Given the description of an element on the screen output the (x, y) to click on. 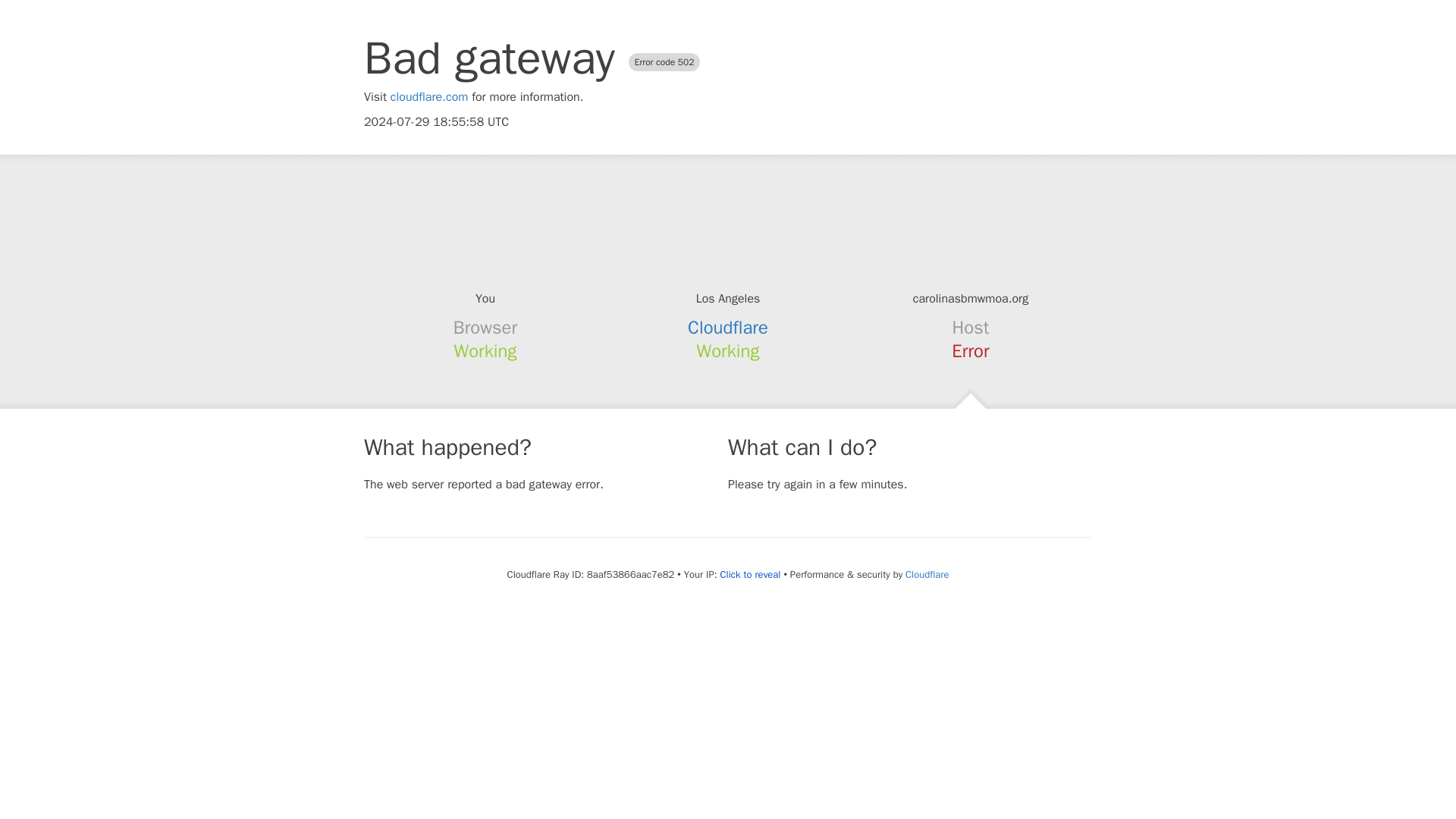
cloudflare.com (429, 96)
Cloudflare (727, 327)
Cloudflare (927, 574)
Click to reveal (750, 574)
